Given the description of an element on the screen output the (x, y) to click on. 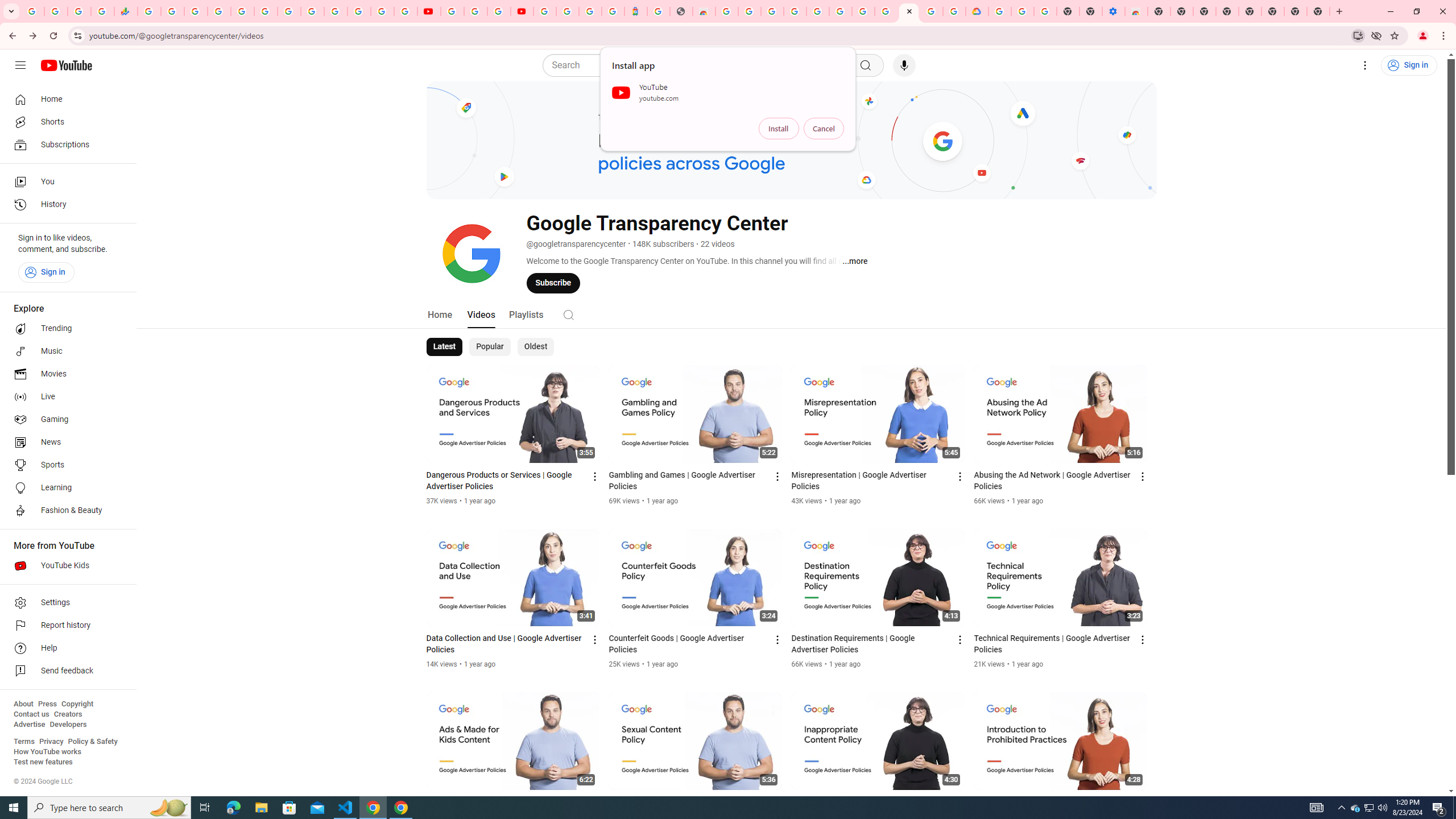
Copyright (77, 703)
Turn cookies on or off - Computer - Google Account Help (1045, 11)
Google Account Help (475, 11)
Terms (23, 741)
Test new features (42, 761)
Android TV Policies and Guidelines - Transparency Center (288, 11)
Settings (64, 602)
Create your Google Account (498, 11)
Press (46, 703)
Sign in - Google Accounts (545, 11)
